Given the description of an element on the screen output the (x, y) to click on. 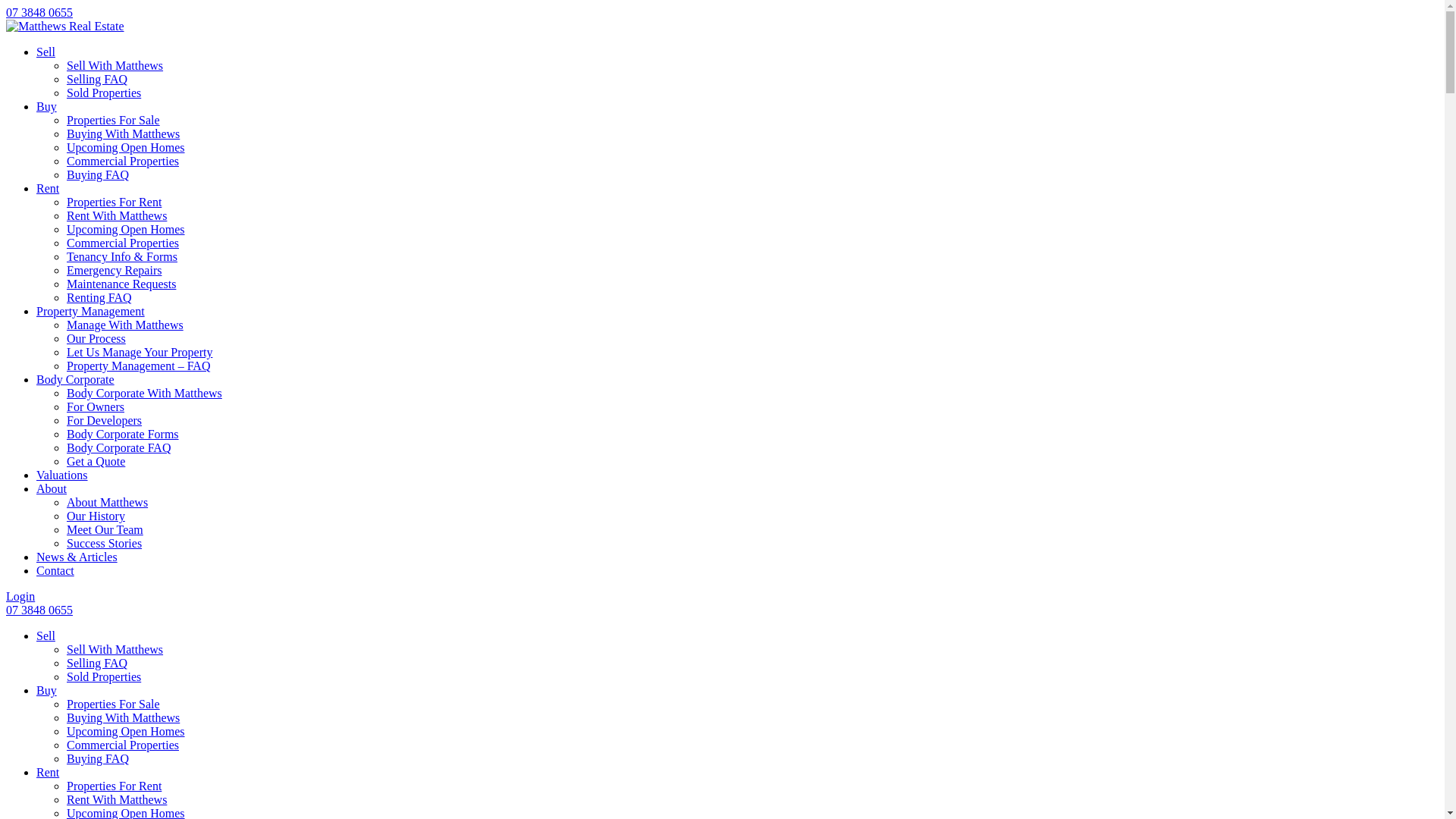
Rent With Matthews Element type: text (116, 215)
Maintenance Requests Element type: text (120, 283)
Success Stories Element type: text (103, 542)
Sold Properties Element type: text (103, 92)
About Matthews Element type: text (106, 501)
Commercial Properties Element type: text (122, 160)
Upcoming Open Homes Element type: text (125, 228)
Valuations Element type: text (61, 474)
For Owners Element type: text (95, 406)
News & Articles Element type: text (76, 556)
Buying With Matthews Element type: text (122, 133)
Body Corporate Element type: text (75, 379)
Body Corporate Forms Element type: text (122, 433)
Our Process Element type: text (95, 338)
Sold Properties Element type: text (103, 676)
Rent Element type: text (47, 188)
Properties For Sale Element type: text (113, 119)
Property Management Element type: text (90, 310)
Upcoming Open Homes Element type: text (125, 147)
For Developers Element type: text (103, 420)
Renting FAQ Element type: text (98, 297)
Buying With Matthews Element type: text (122, 717)
Buying FAQ Element type: text (97, 174)
Sell With Matthews Element type: text (114, 649)
07 3848 0655 Element type: text (39, 609)
Meet Our Team Element type: text (104, 529)
Let Us Manage Your Property Element type: text (139, 351)
Get a Quote Element type: text (95, 461)
Properties For Sale Element type: text (113, 703)
About Element type: text (51, 488)
Sell Element type: text (45, 51)
Commercial Properties Element type: text (122, 744)
Commercial Properties Element type: text (122, 242)
Properties For Rent Element type: text (113, 785)
Selling FAQ Element type: text (96, 662)
Emergency Repairs Element type: text (113, 269)
Rent Element type: text (47, 771)
Manage With Matthews Element type: text (124, 324)
Selling FAQ Element type: text (96, 78)
Tenancy Info & Forms Element type: text (121, 256)
Login Element type: text (20, 595)
Body Corporate FAQ Element type: text (118, 447)
Properties For Rent Element type: text (113, 201)
Sell With Matthews Element type: text (114, 65)
Buy Element type: text (46, 690)
Contact Element type: text (55, 570)
Body Corporate With Matthews Element type: text (144, 392)
Sell Element type: text (45, 635)
Buy Element type: text (46, 106)
Buying FAQ Element type: text (97, 758)
07 3848 0655 Element type: text (39, 12)
Our History Element type: text (95, 515)
Rent With Matthews Element type: text (116, 799)
Upcoming Open Homes Element type: text (125, 730)
